Given the description of an element on the screen output the (x, y) to click on. 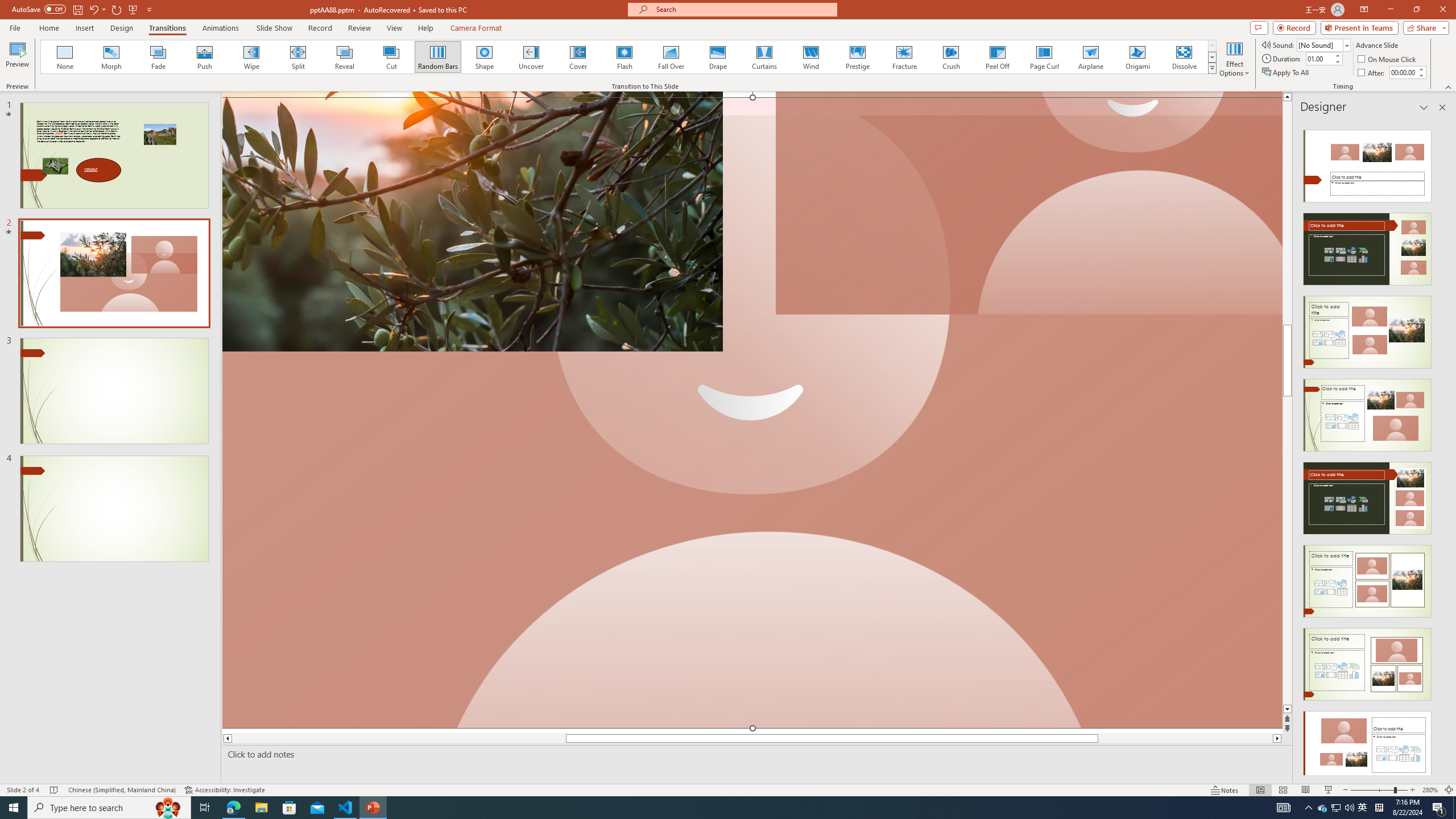
Curtains (764, 56)
Origami (1136, 56)
Class: NetUIScrollBar (1441, 447)
Airplane (1090, 56)
